Given the description of an element on the screen output the (x, y) to click on. 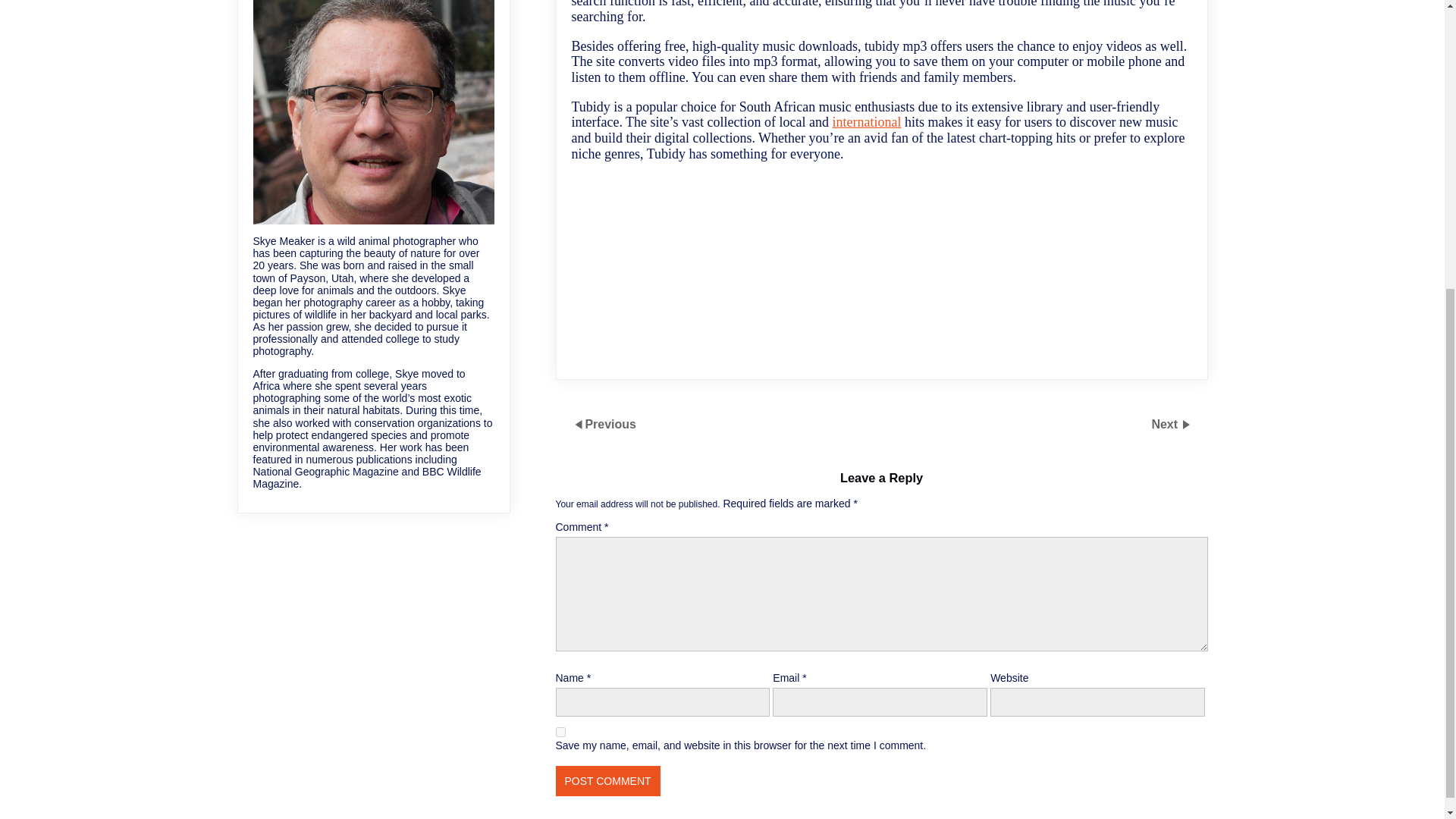
Next (1165, 423)
Post Comment (606, 780)
international (866, 121)
Previous (610, 423)
yes (559, 732)
Post Comment (606, 780)
